Given the description of an element on the screen output the (x, y) to click on. 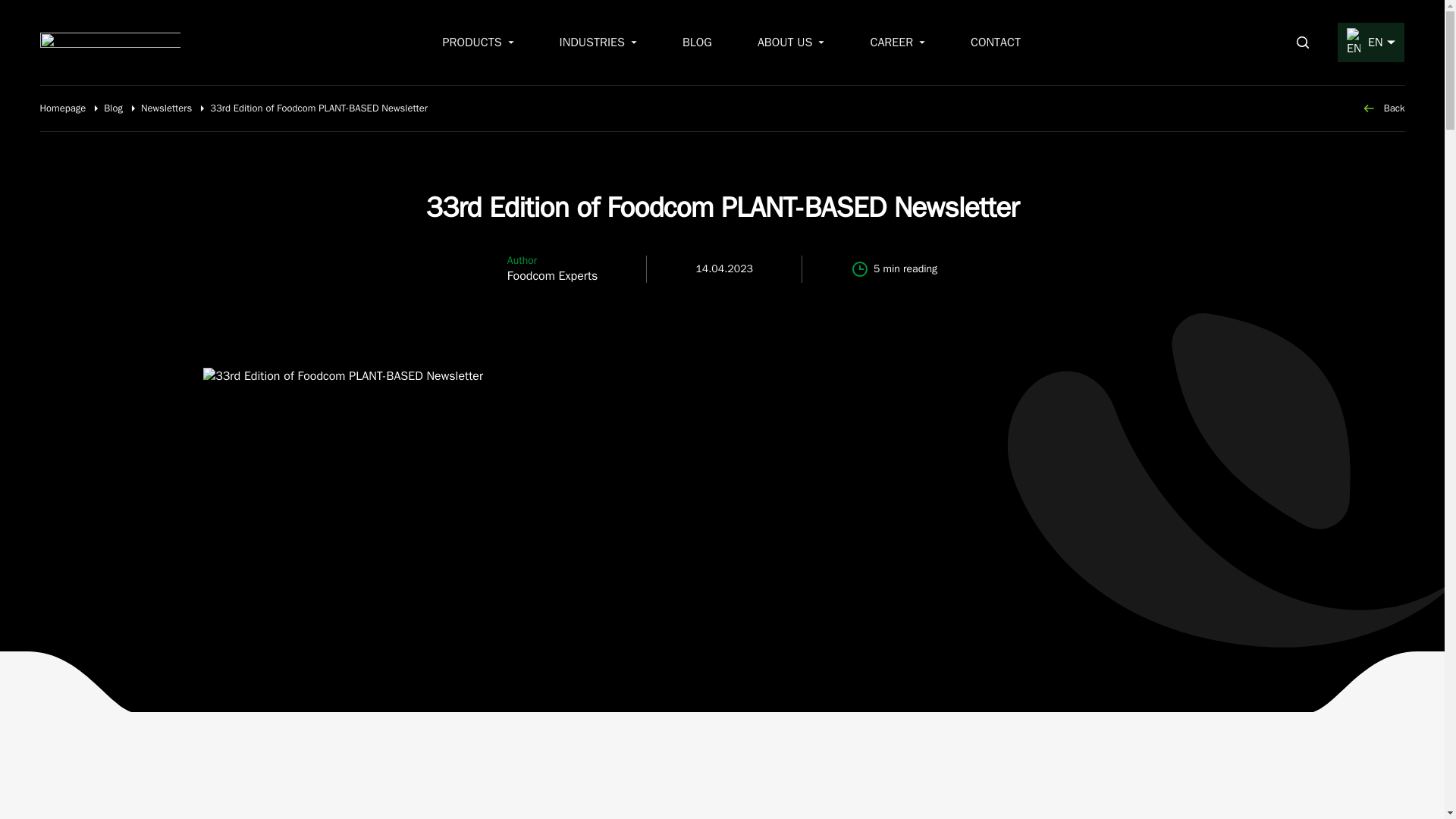
CAREER (896, 41)
ABOUT US (791, 41)
BLOG (696, 41)
CONTACT (995, 41)
PRODUCTS (477, 41)
INDUSTRIES (598, 41)
